Given the description of an element on the screen output the (x, y) to click on. 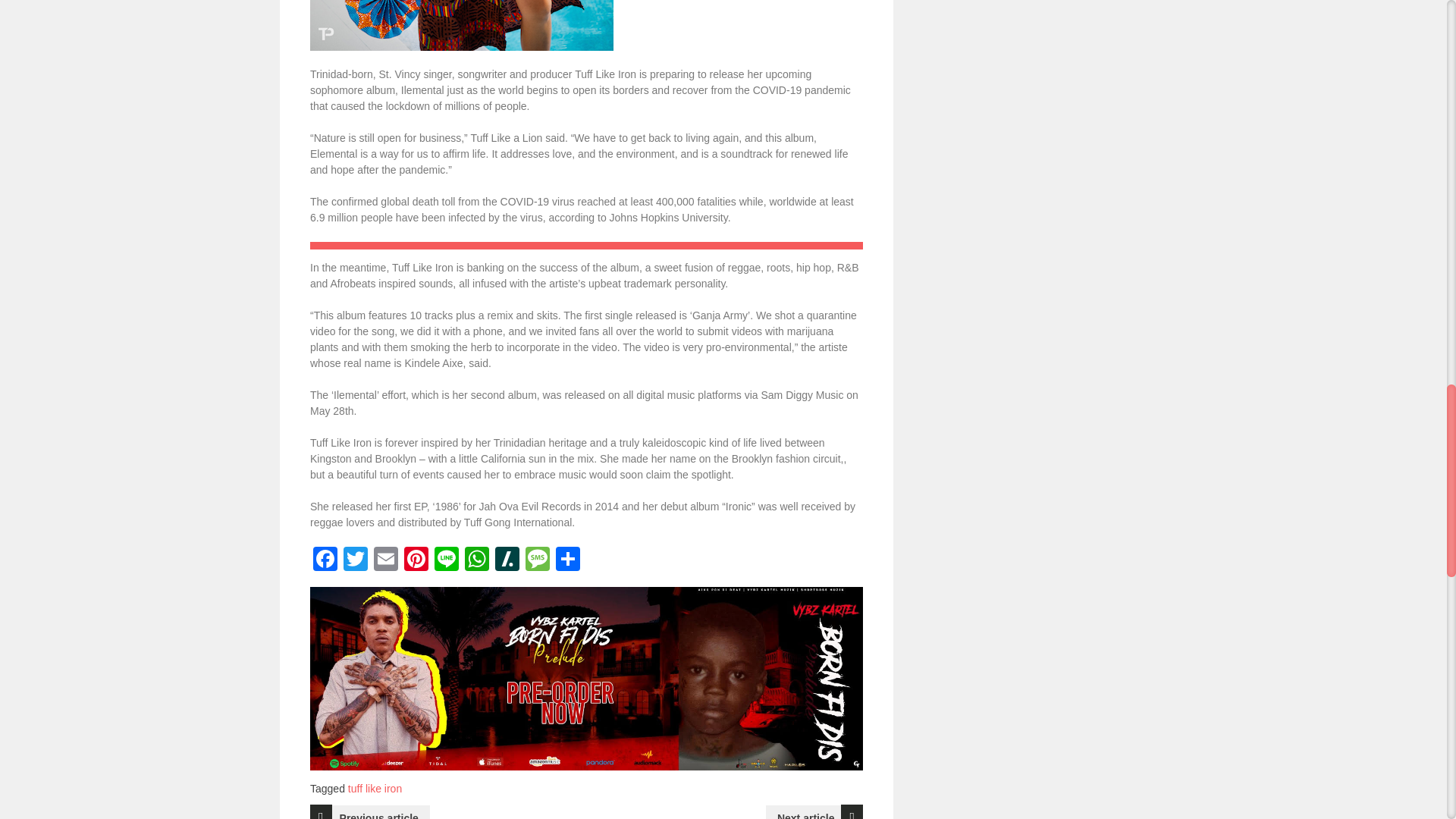
Slashdot (507, 560)
Facebook (325, 560)
tuff like iron (374, 788)
Next article (814, 812)
Previous article (369, 812)
Twitter (355, 560)
Pinterest (415, 560)
Line (445, 560)
Slashdot (507, 560)
Message (537, 560)
Twitter (355, 560)
Facebook (325, 560)
Share (568, 560)
WhatsApp (476, 560)
Pinterest (415, 560)
